Given the description of an element on the screen output the (x, y) to click on. 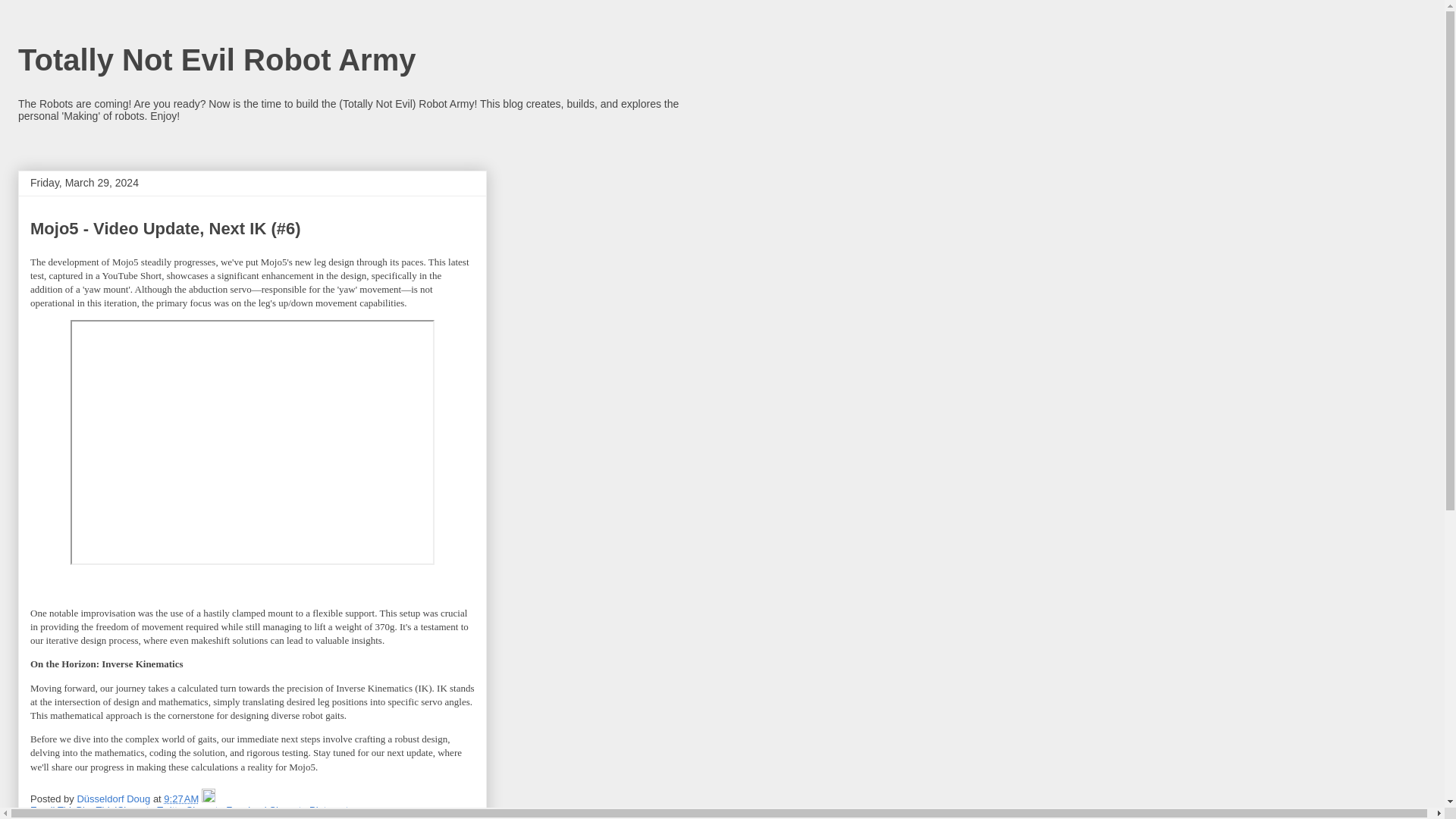
Share to Pinterest (308, 809)
Servo (343, 817)
BlogThis! (95, 809)
BlogThis! (95, 809)
Quadruped (301, 817)
permanent link (180, 798)
Share to Facebook (227, 809)
3D Printing (89, 817)
Share to Twitter (151, 809)
Totally Not Evil Robot Army (215, 59)
